Given the description of an element on the screen output the (x, y) to click on. 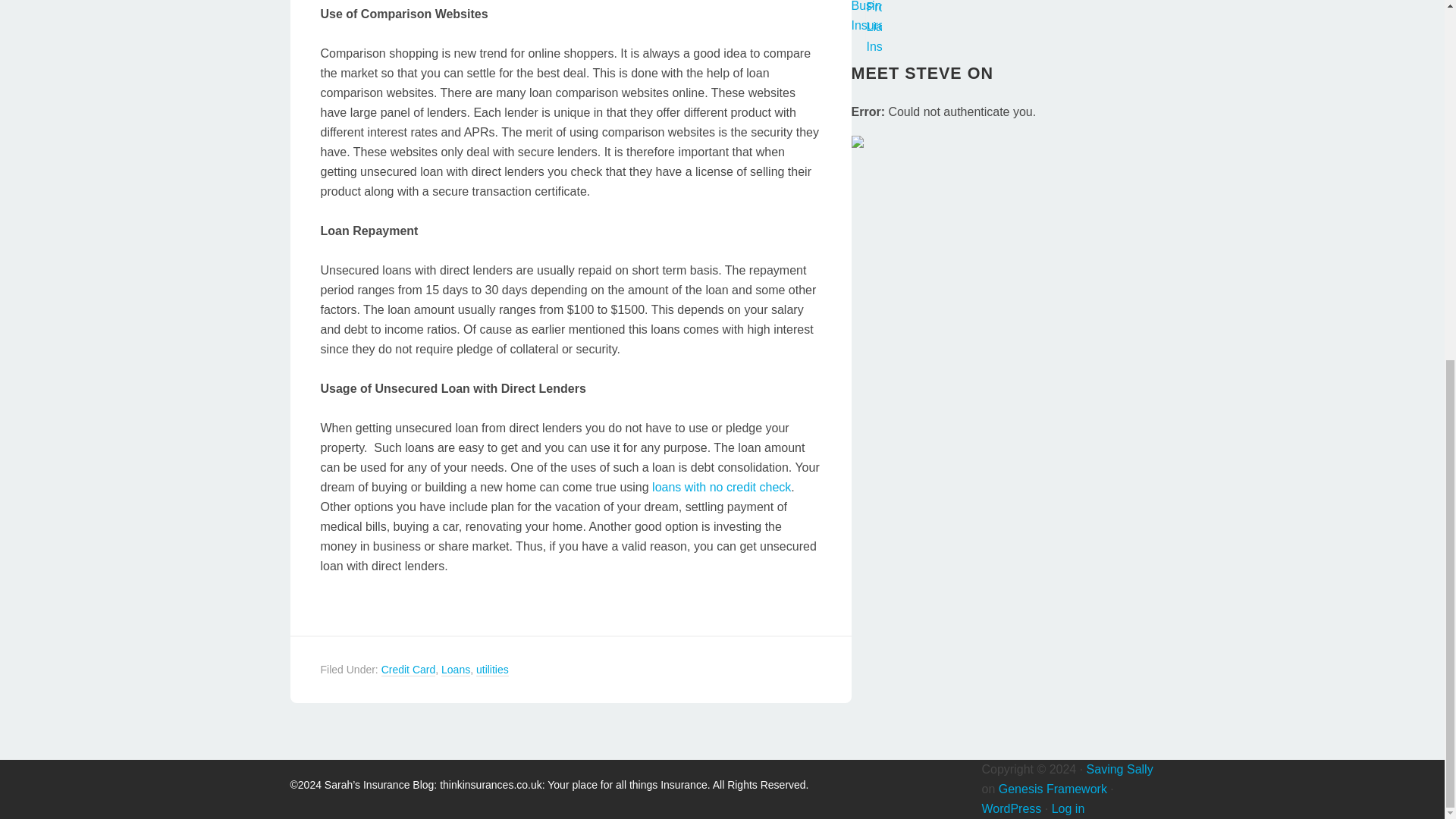
utilities (492, 669)
Log in (1067, 807)
Saving Sally (1119, 768)
Credit Card (408, 669)
loans with no credit check (721, 486)
Loans (455, 669)
WordPress (1011, 807)
Genesis Framework (1052, 788)
